Given the description of an element on the screen output the (x, y) to click on. 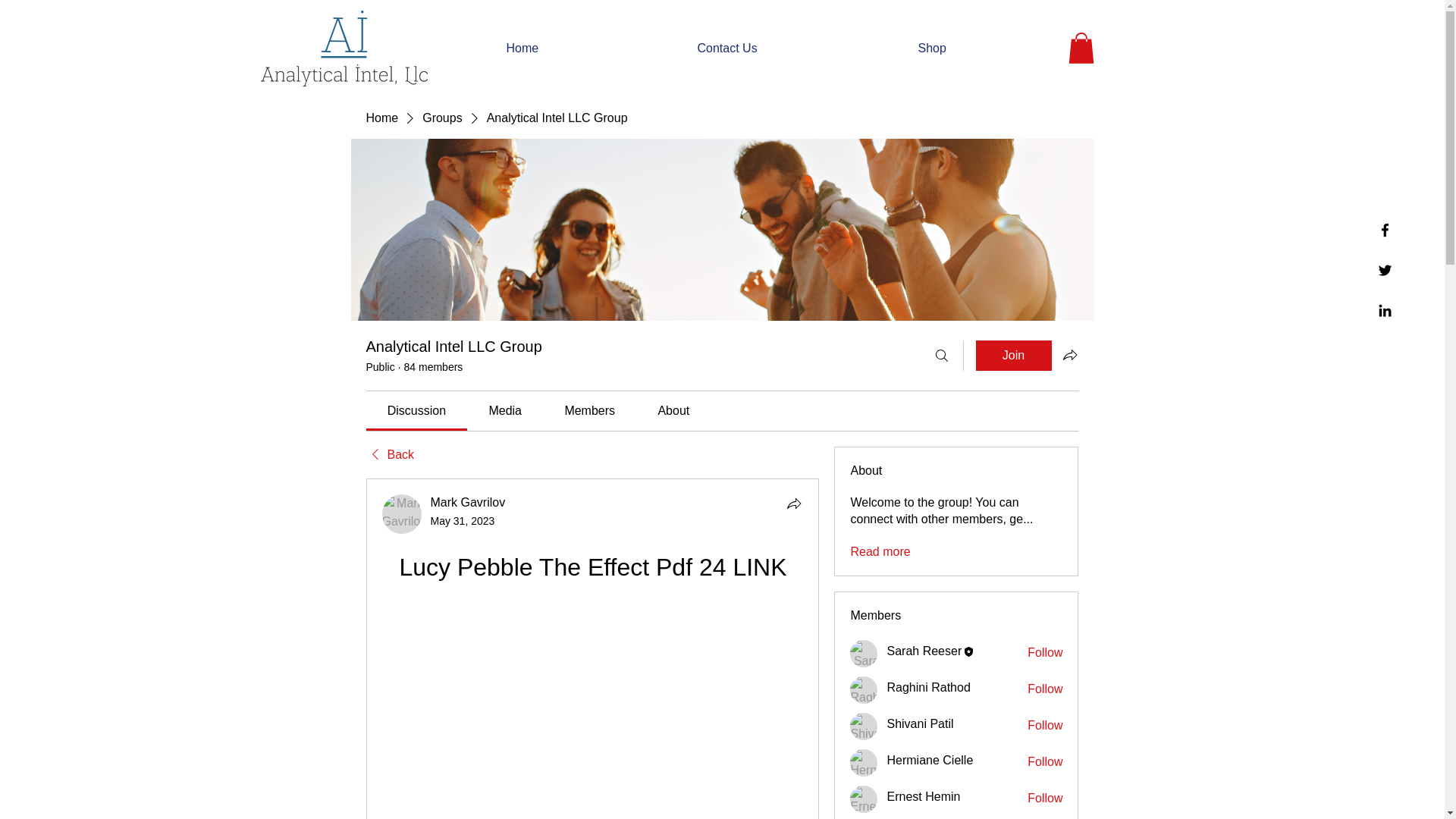
Home (590, 48)
Sarah Reeser (923, 650)
Shivani Patil (863, 726)
Mark Gavrilov (467, 502)
Follow (1044, 761)
AI.png (344, 48)
May 31, 2023 (462, 521)
Follow (1044, 688)
Hermiane Cielle (863, 762)
Back (389, 454)
